Given the description of an element on the screen output the (x, y) to click on. 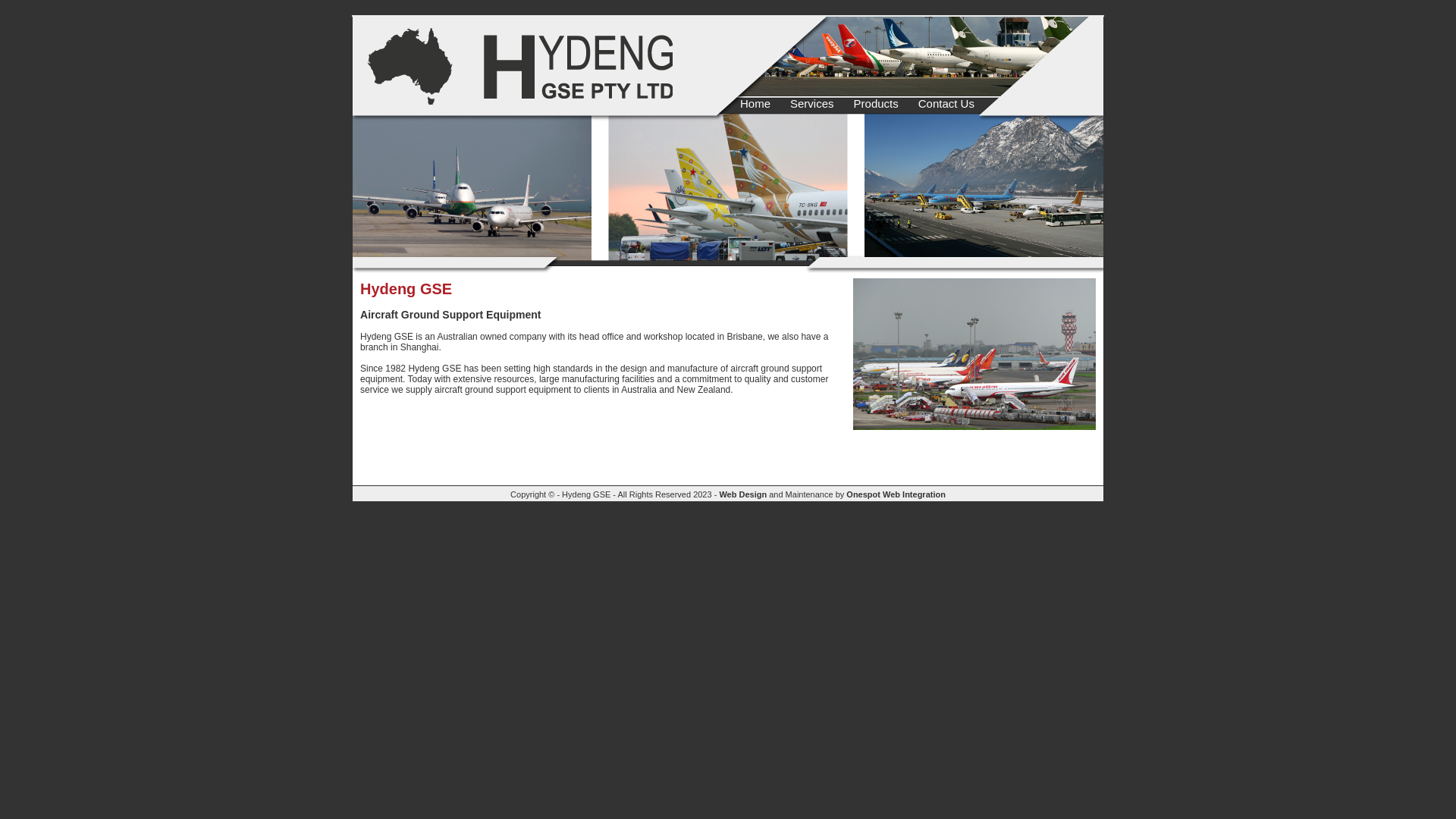
Contact Us Element type: text (945, 104)
Products Element type: text (874, 104)
Web Design Element type: text (742, 493)
Home Element type: text (753, 104)
Services Element type: text (810, 104)
Onespot Web Integration Element type: text (895, 493)
